Given the description of an element on the screen output the (x, y) to click on. 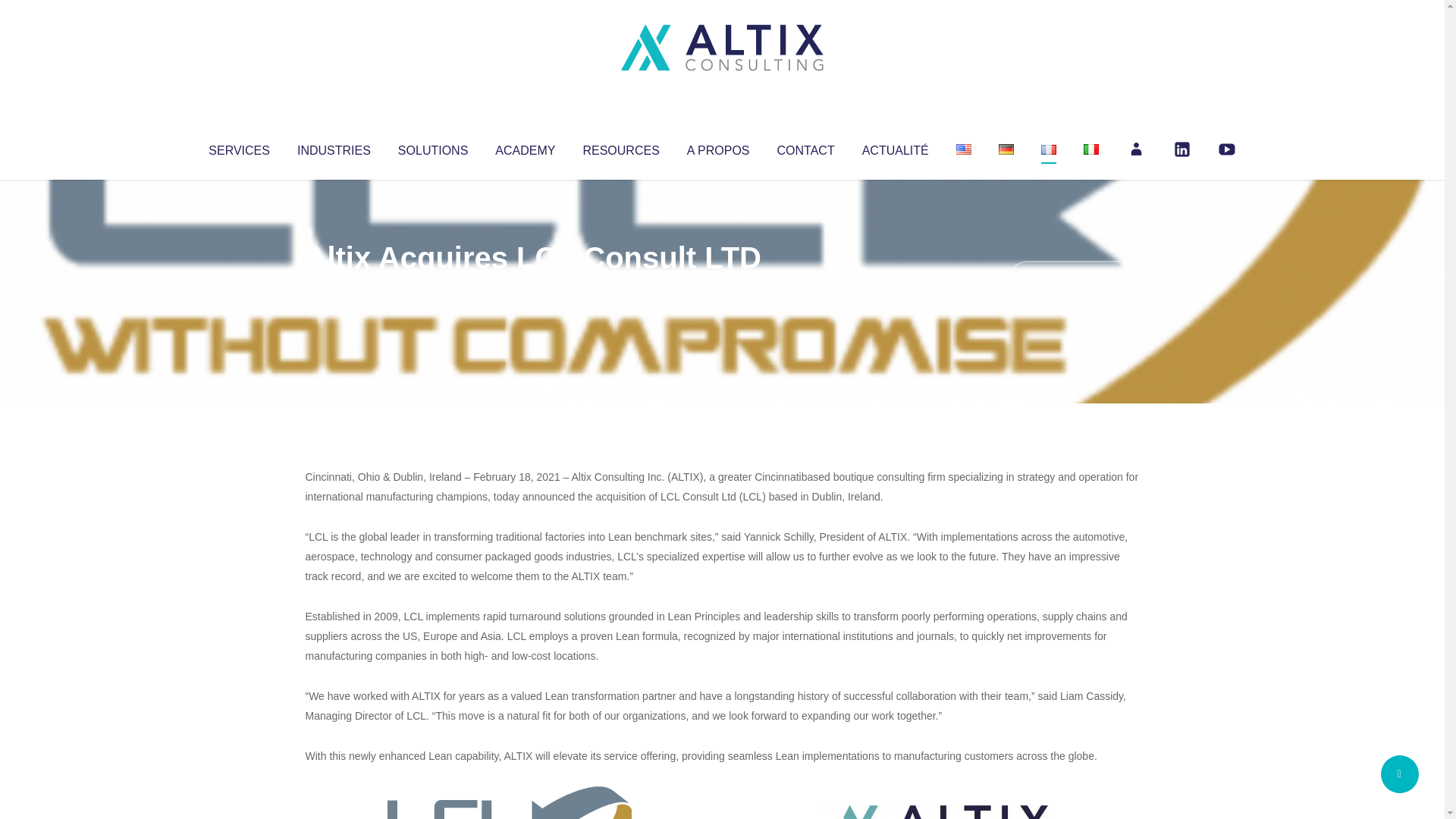
Uncategorized (530, 287)
Articles par Altix (333, 287)
A PROPOS (718, 146)
RESOURCES (620, 146)
SOLUTIONS (432, 146)
Altix (333, 287)
ACADEMY (524, 146)
INDUSTRIES (334, 146)
No Comments (1073, 278)
SERVICES (238, 146)
